Given the description of an element on the screen output the (x, y) to click on. 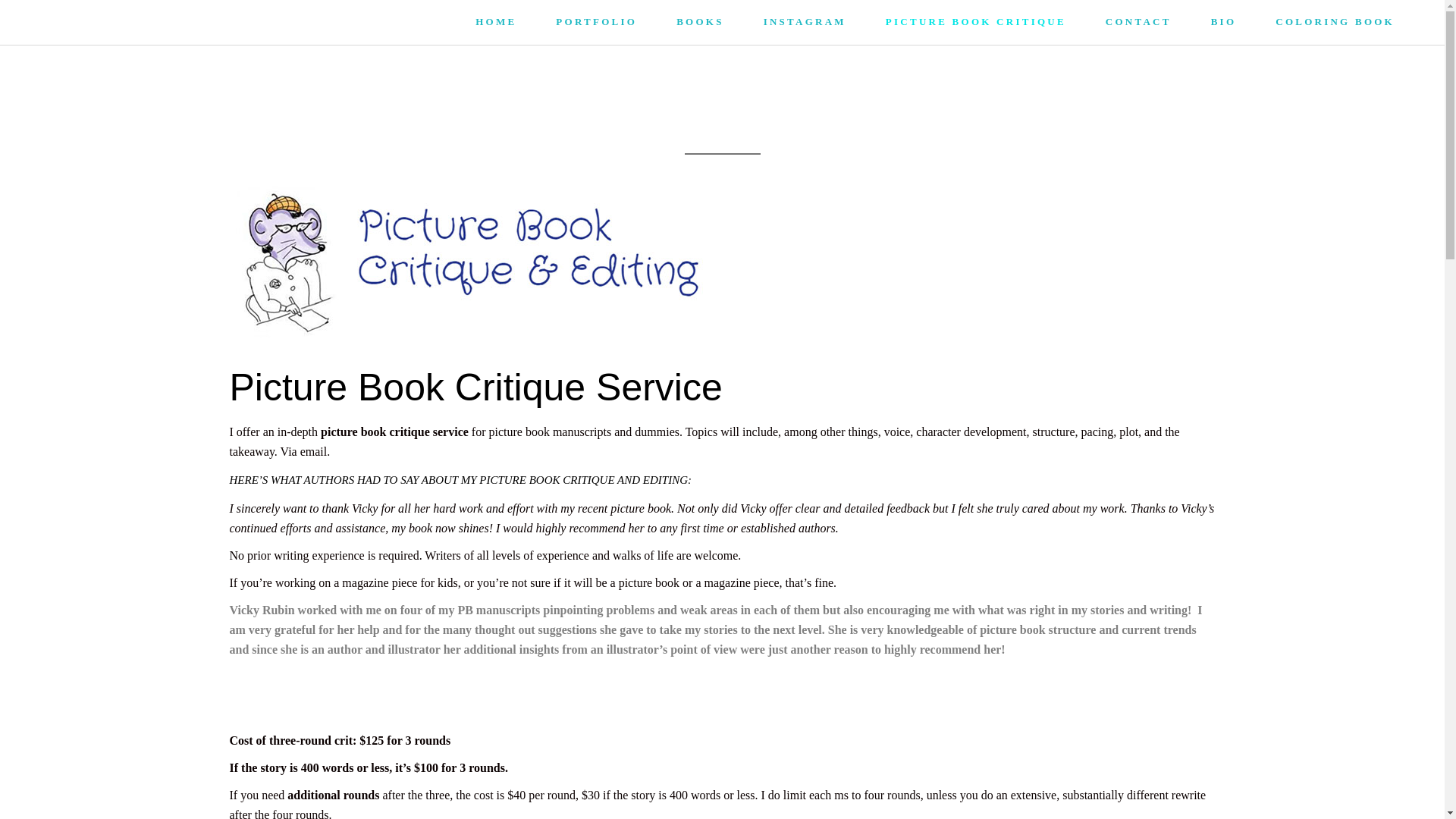
HOME (495, 22)
PORTFOLIO (595, 22)
COLORING BOOK (1334, 22)
BOOKS (700, 22)
PICTURE BOOK CRITIQUE (976, 22)
BIO (1223, 22)
CONTACT (1138, 22)
INSTAGRAM (805, 22)
